Given the description of an element on the screen output the (x, y) to click on. 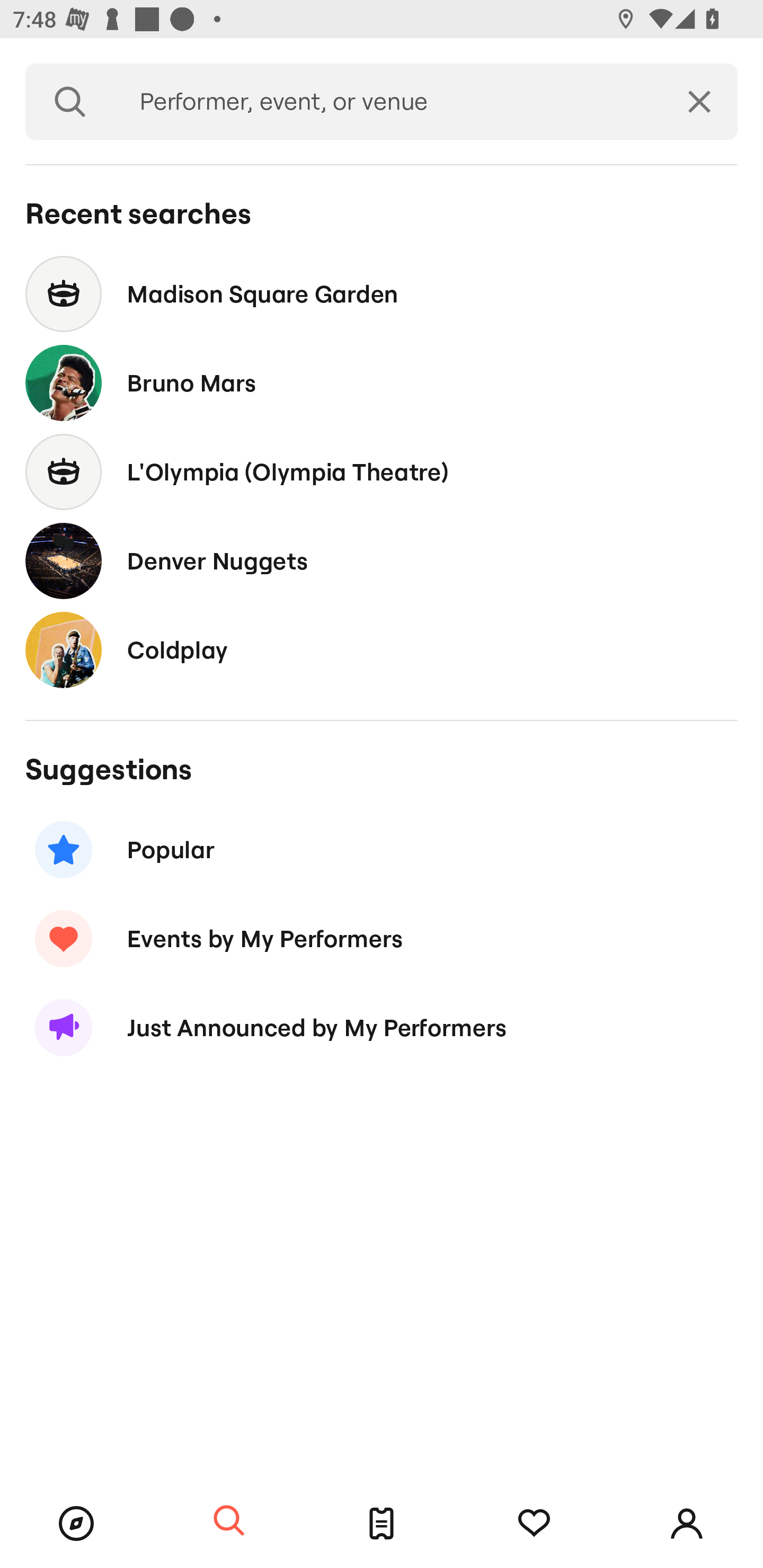
Search (69, 101)
Performer, event, or venue (387, 101)
Clear (699, 101)
Madison Square Garden (381, 293)
Bruno Mars (381, 383)
L'Olympia (Olympia Theatre) (381, 471)
Denver Nuggets (381, 560)
Coldplay (381, 649)
Popular (381, 849)
Events by My Performers (381, 938)
Just Announced by My Performers (381, 1027)
Browse (76, 1523)
Search (228, 1521)
Tickets (381, 1523)
Tracking (533, 1523)
Account (686, 1523)
